Given the description of an element on the screen output the (x, y) to click on. 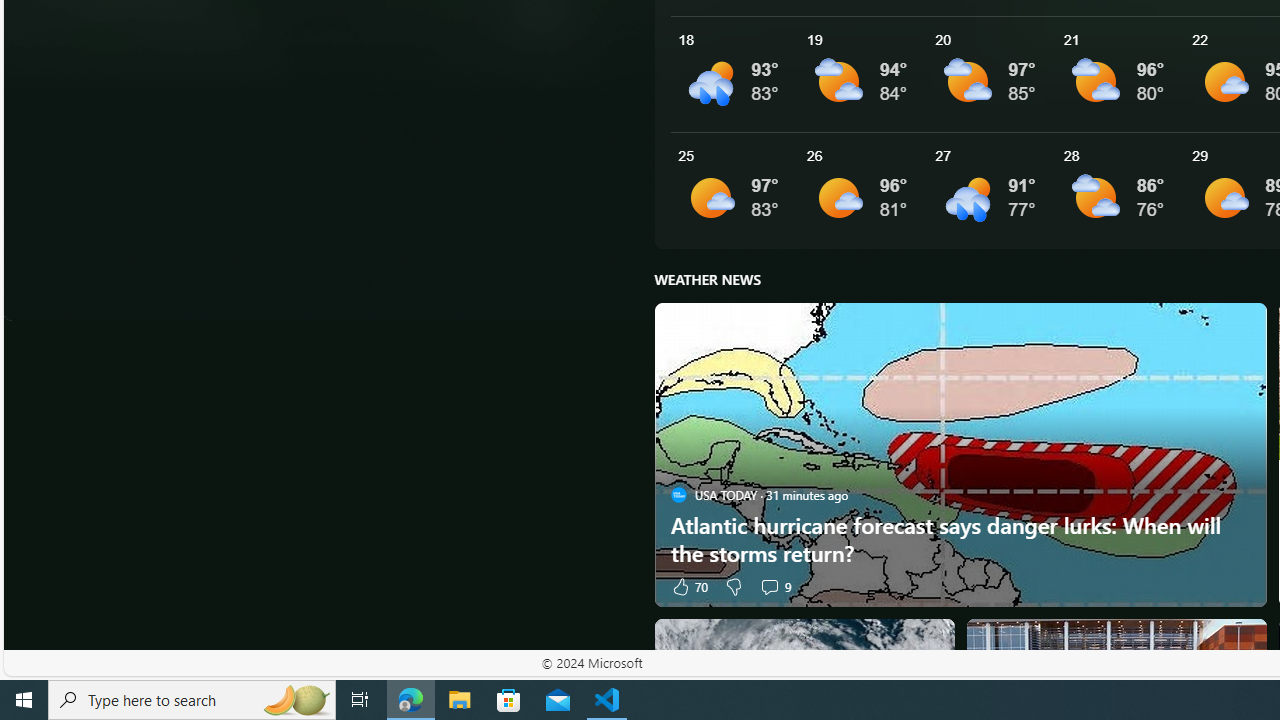
View comments 9 Comment (769, 586)
USA TODAY (678, 494)
70 Like (688, 586)
See More Details (1120, 190)
